Given the description of an element on the screen output the (x, y) to click on. 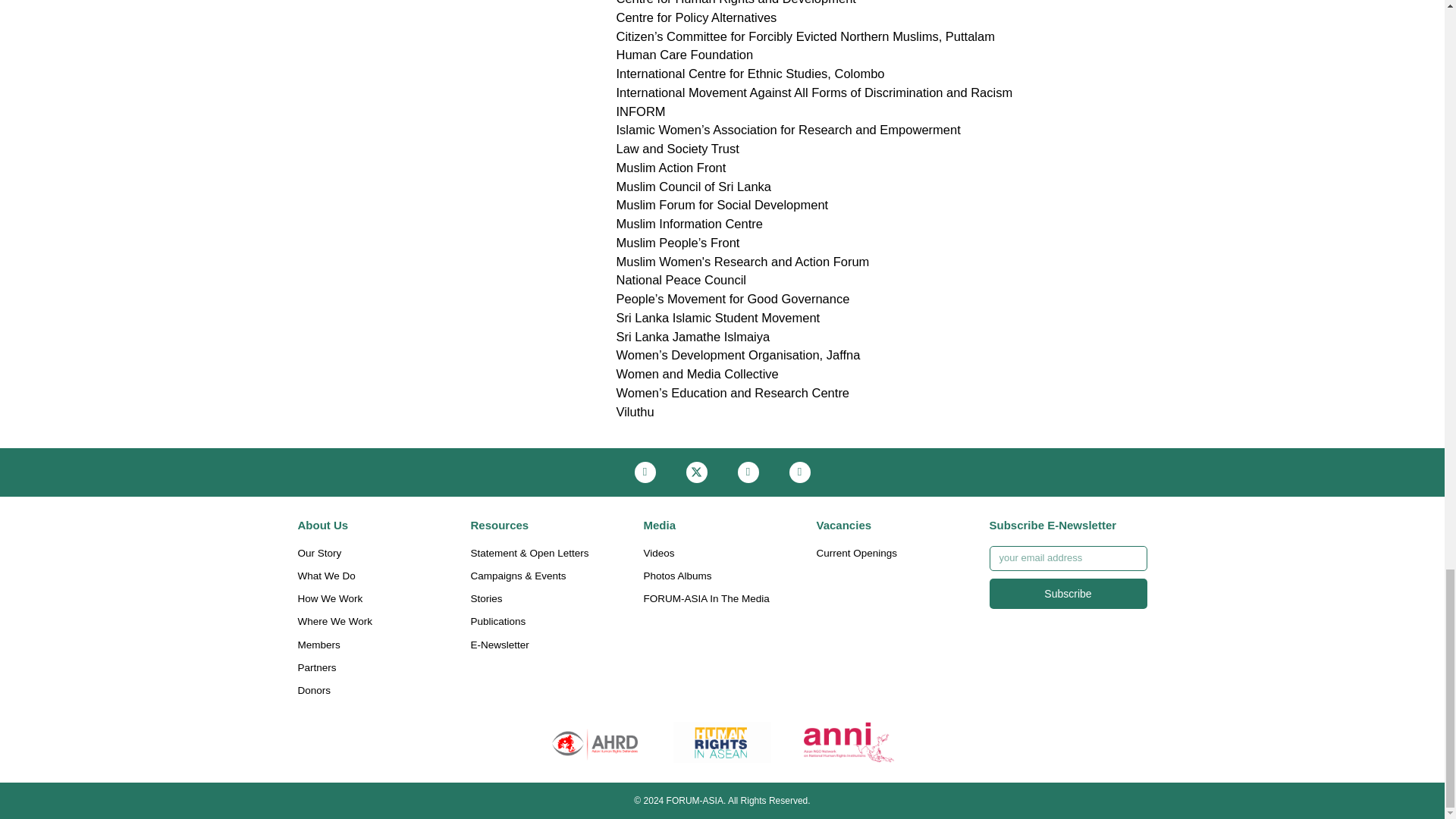
Default Title (595, 741)
Default Title (848, 741)
Default Title (722, 741)
